Given the description of an element on the screen output the (x, y) to click on. 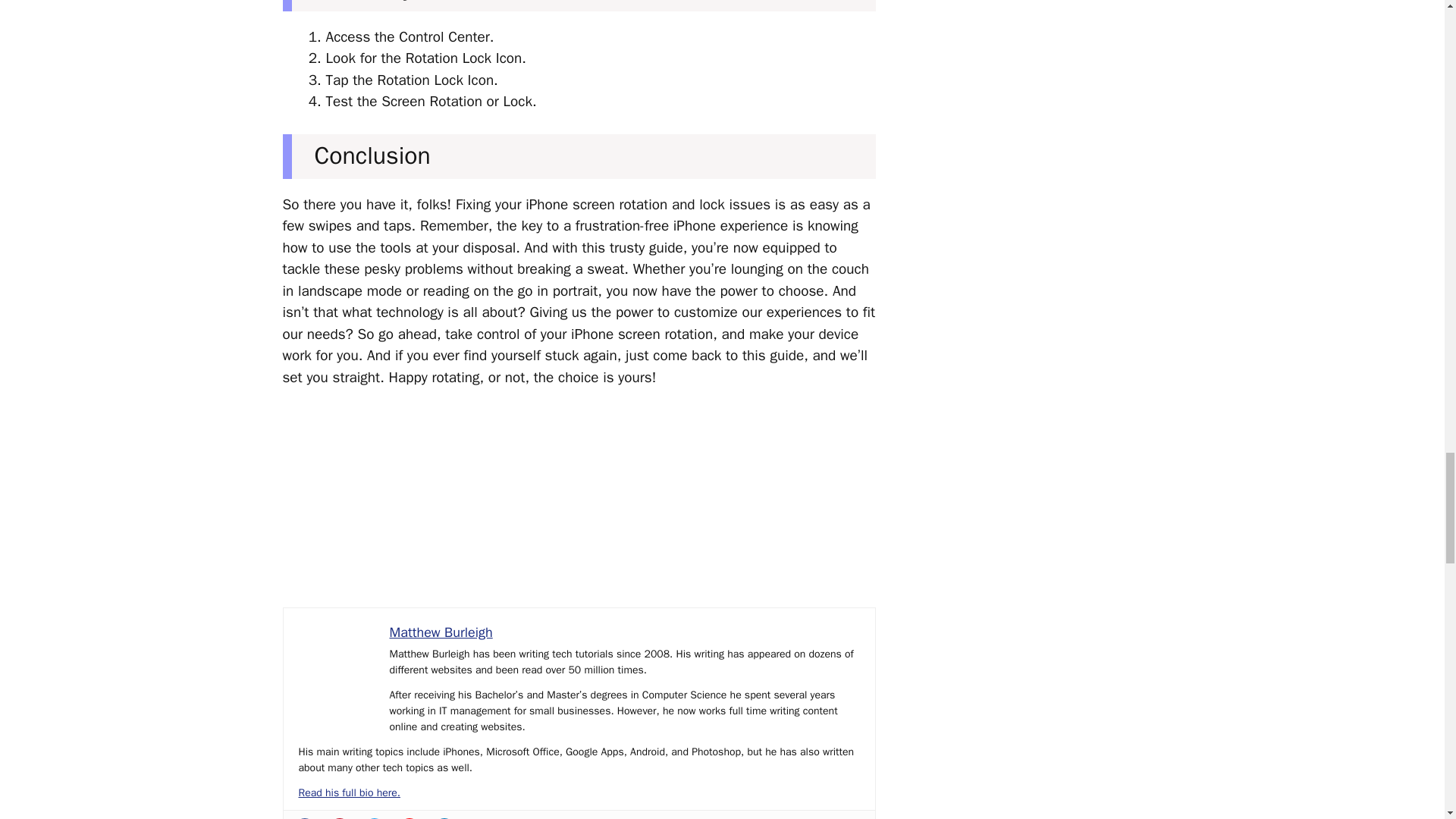
Read his full bio here. (349, 792)
Matthew Burleigh (441, 632)
